Given the description of an element on the screen output the (x, y) to click on. 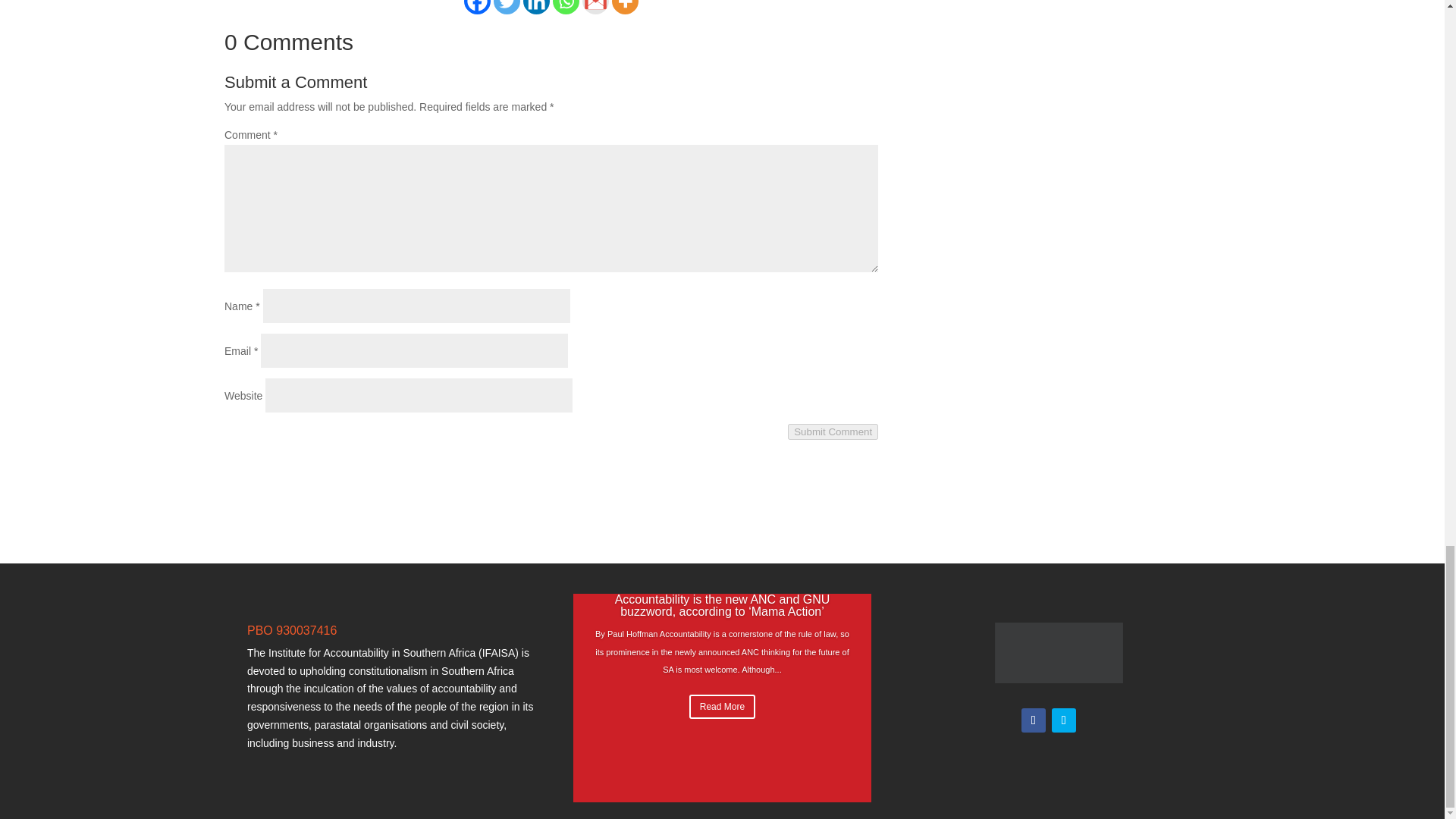
More (625, 7)
Whatsapp (566, 7)
Google Gmail (595, 7)
Twitter (506, 7)
Facebook (477, 7)
Linkedin (536, 7)
